Given the description of an element on the screen output the (x, y) to click on. 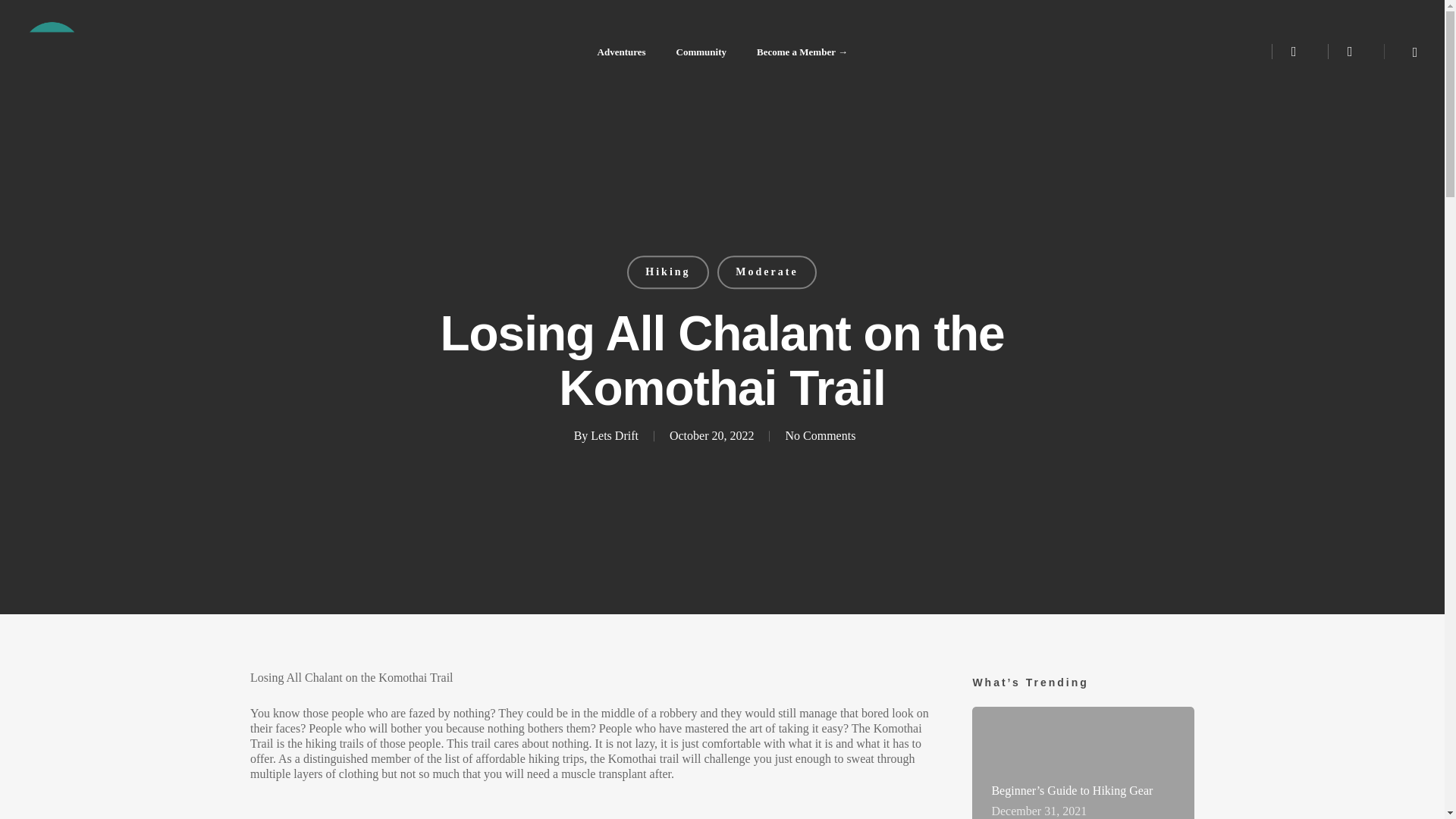
Moderate (766, 272)
Lets Drift (615, 436)
Adventures (621, 51)
No Comments (820, 436)
Posts by Lets Drift (615, 436)
Community (701, 51)
Hiking (668, 272)
